Given the description of an element on the screen output the (x, y) to click on. 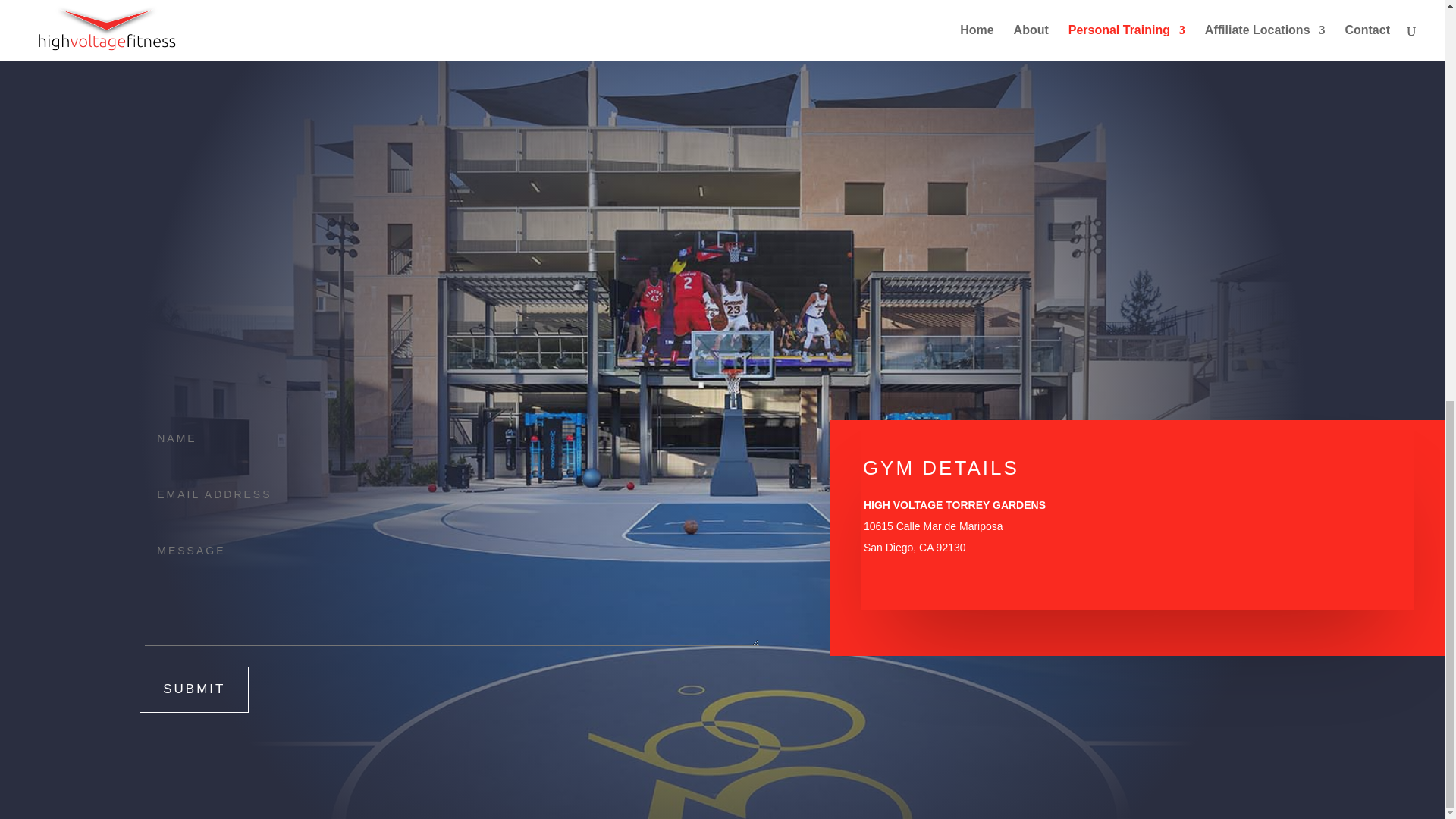
SUBMIT (193, 689)
